Given the description of an element on the screen output the (x, y) to click on. 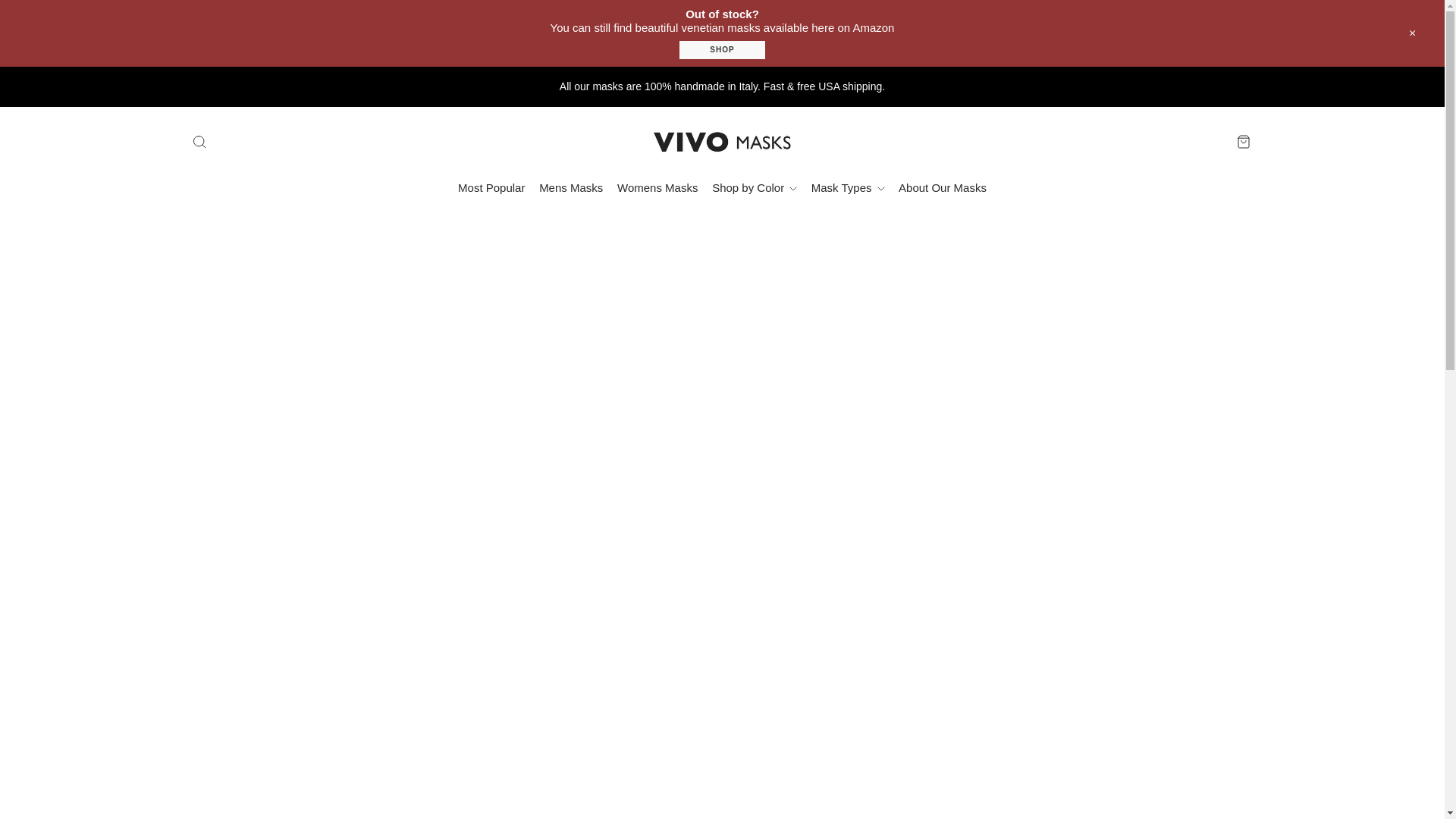
Chevron down Icon (880, 188)
SHOP (721, 48)
Chevron down Icon (793, 188)
SHOP (721, 49)
